Given the description of an element on the screen output the (x, y) to click on. 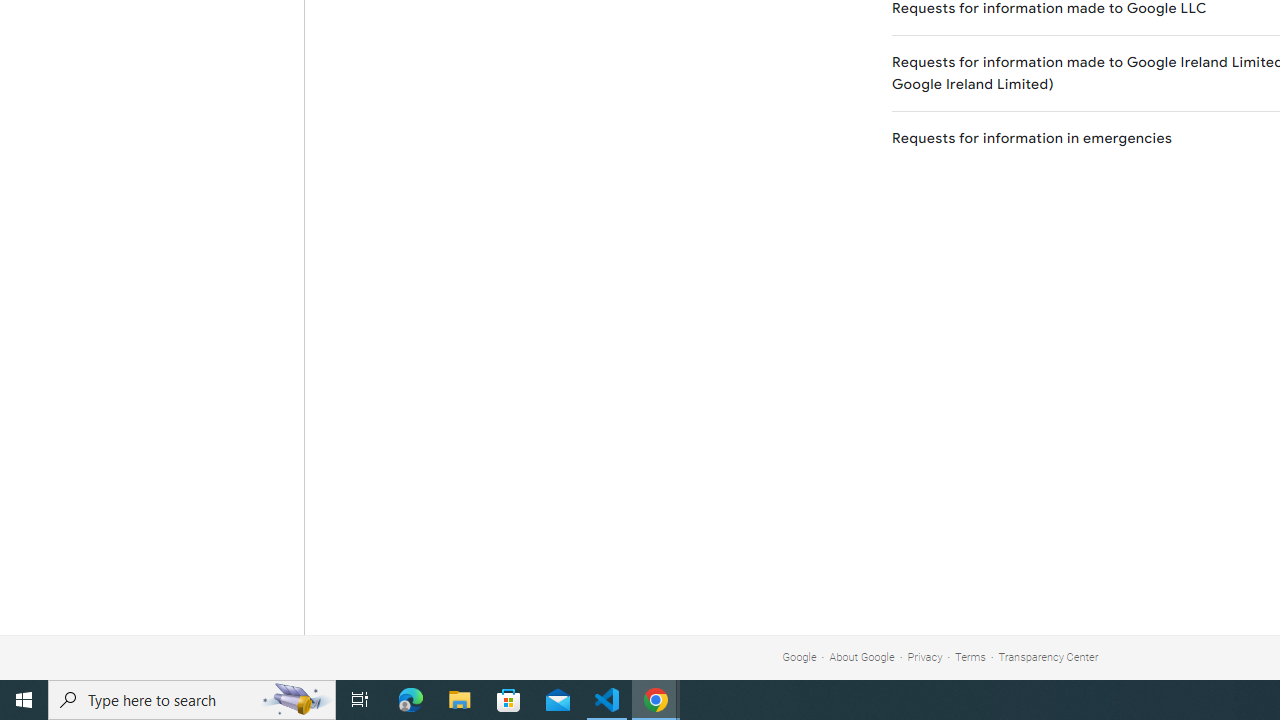
About Google (861, 656)
Transparency Center (1048, 656)
